Given the description of an element on the screen output the (x, y) to click on. 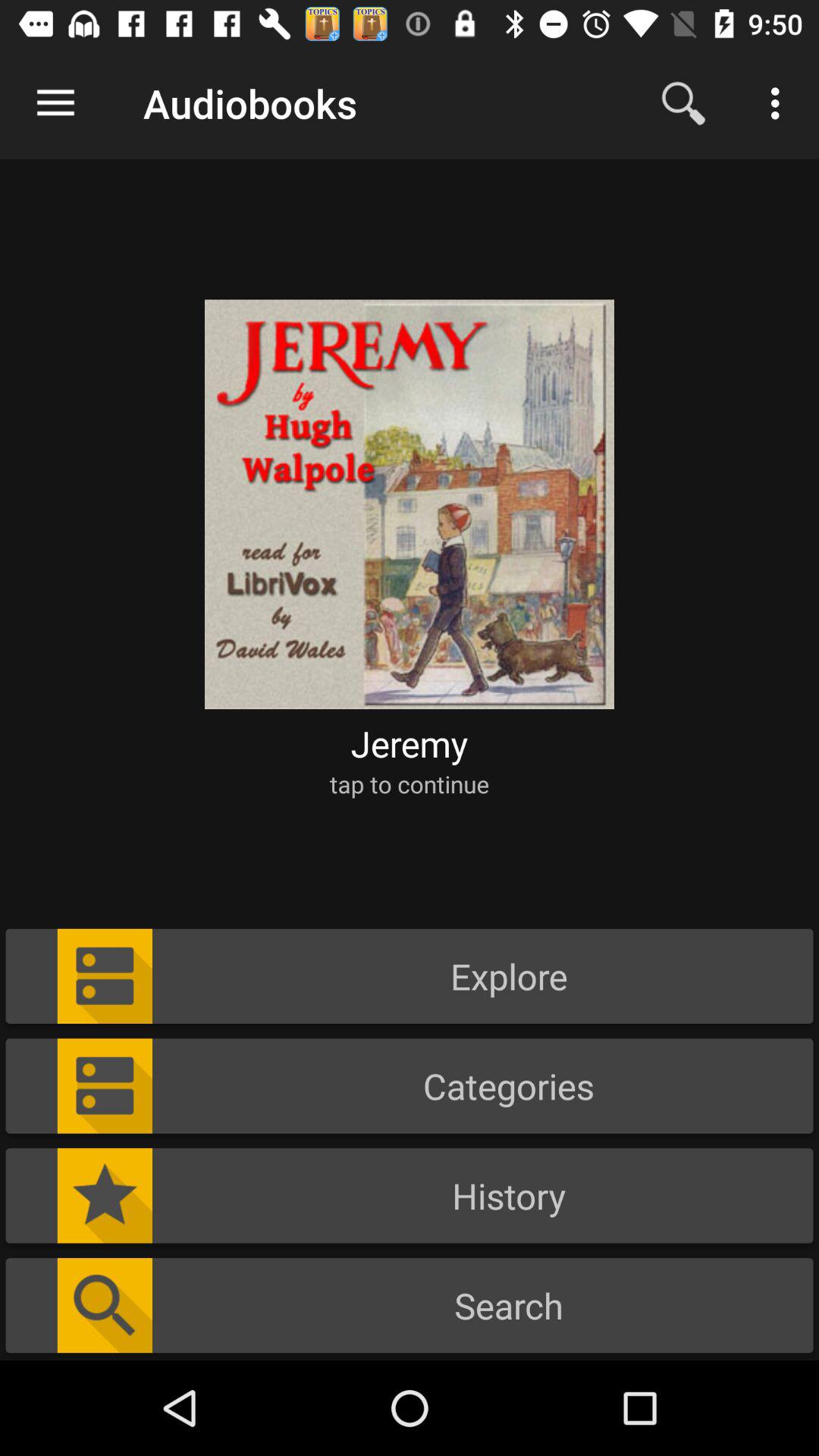
choose the tap to continue (409, 783)
